Given the description of an element on the screen output the (x, y) to click on. 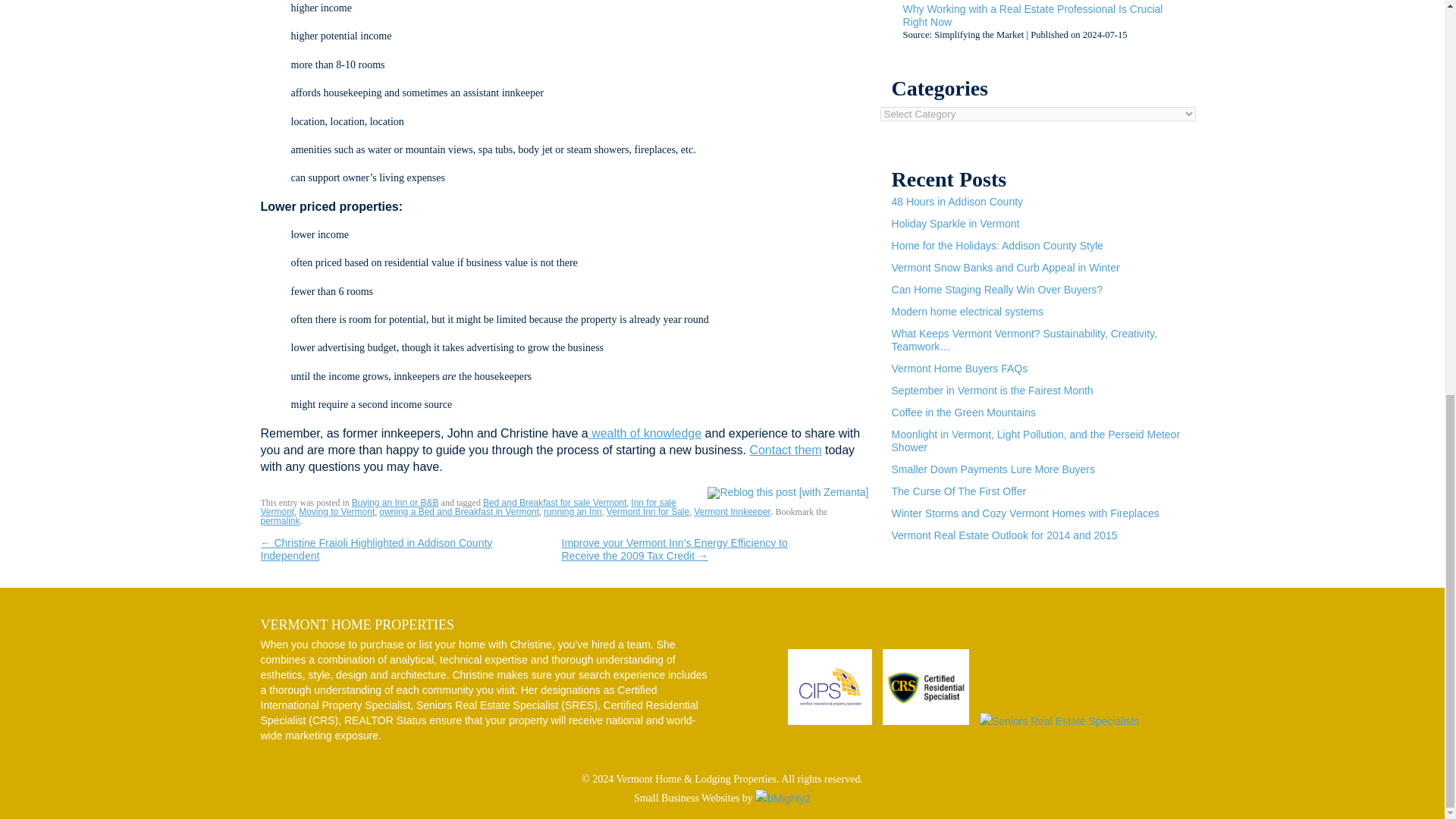
Contact them (785, 449)
Bed and Breakfast for sale Vermont (554, 502)
Moving to Vermont (336, 511)
running an Inn (572, 511)
owning a Bed and Breakfast in Vermont (458, 511)
Inn for sale Vermont (468, 506)
wealth of knowledge (644, 432)
Vermont Inn for Sale (647, 511)
